Given the description of an element on the screen output the (x, y) to click on. 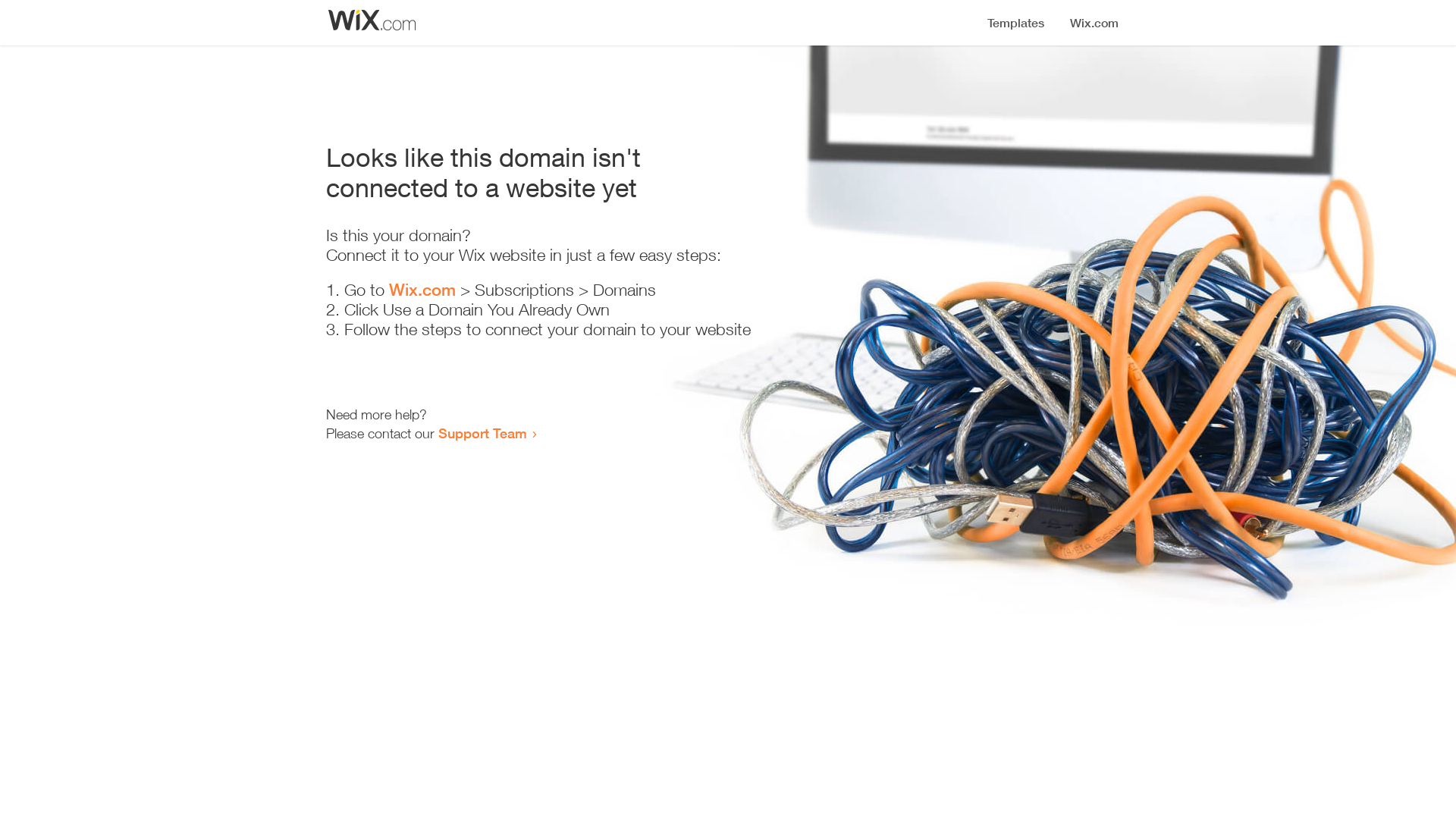
Support Team Element type: text (482, 432)
Wix.com Element type: text (422, 289)
